Given the description of an element on the screen output the (x, y) to click on. 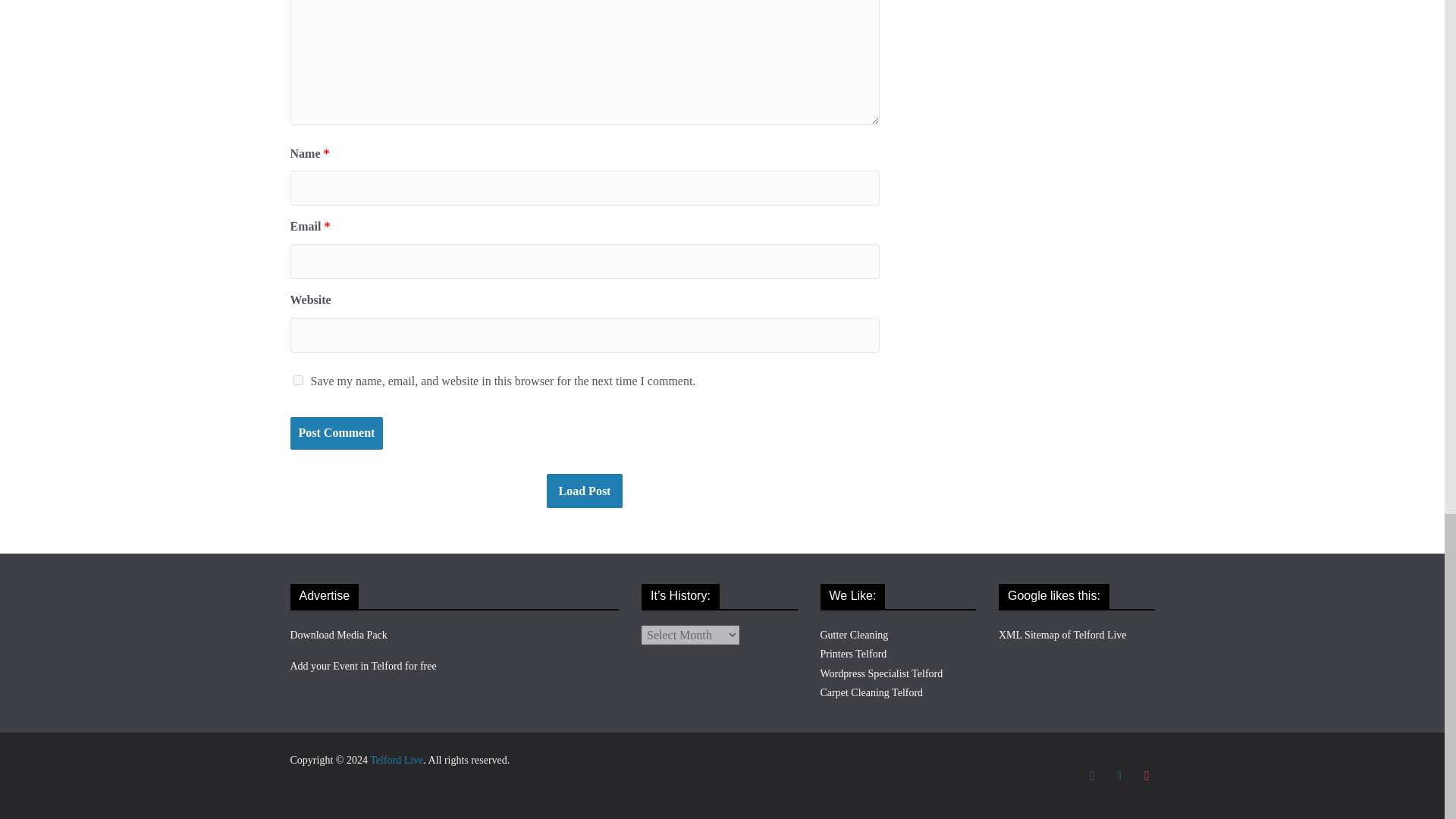
Post Comment (335, 432)
Download Media Pack (338, 634)
yes (297, 379)
Load Post (585, 490)
Telford Live (396, 759)
Post Comment (335, 432)
